Given the description of an element on the screen output the (x, y) to click on. 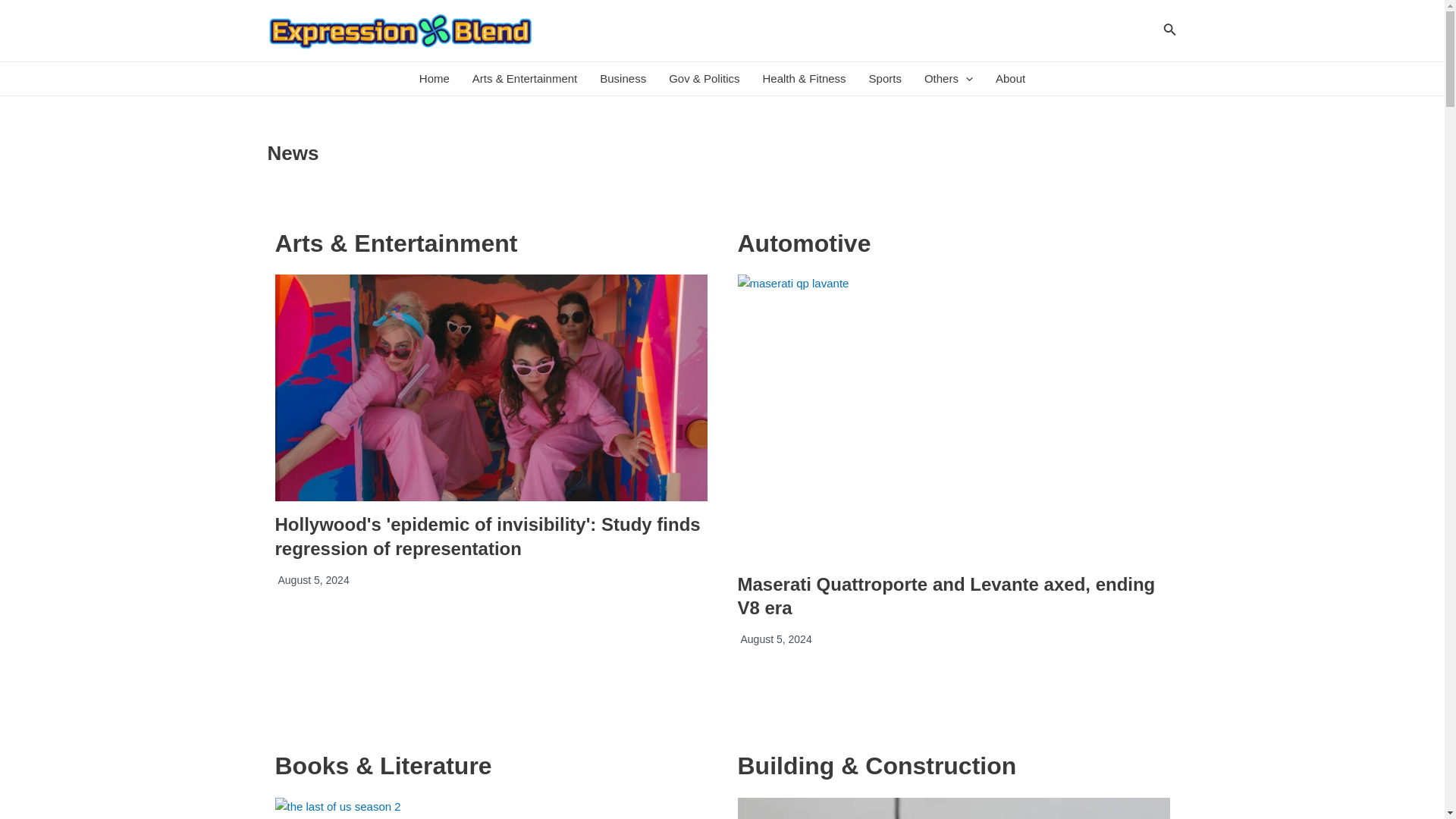
Others (948, 78)
Business (623, 78)
Home (434, 78)
About (1010, 78)
Sports (884, 78)
